Given the description of an element on the screen output the (x, y) to click on. 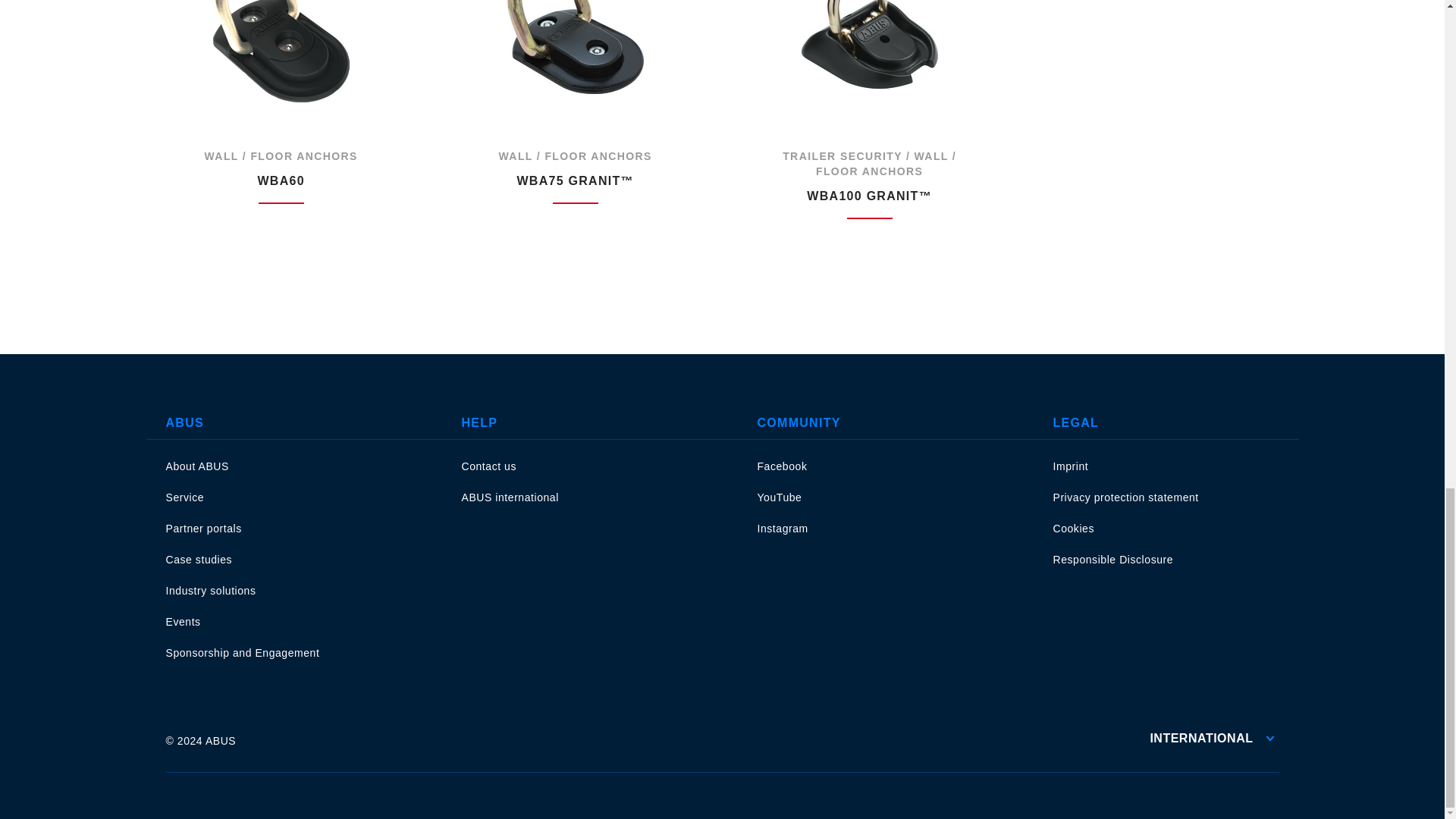
WBA60 (280, 51)
